Given the description of an element on the screen output the (x, y) to click on. 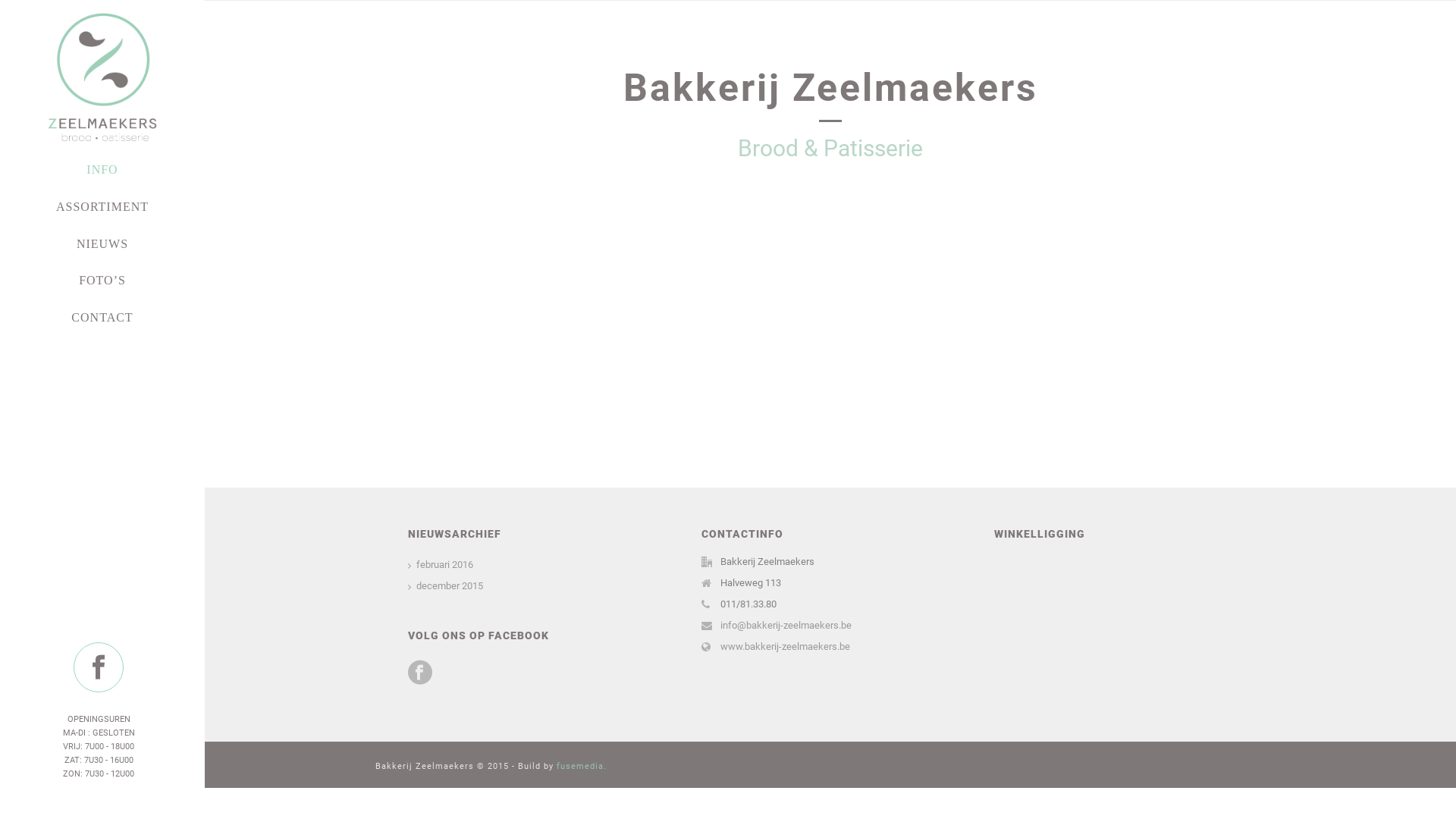
info@bakkerij-zeelmaekers.be Element type: text (785, 625)
www.bakkerij-zeelmaekers.be Element type: text (785, 646)
ASSORTIMENT Element type: text (102, 206)
februari 2016 Element type: text (440, 564)
facebook Element type: hover (98, 667)
NIEUWS Element type: text (102, 244)
CONTACT Element type: text (102, 317)
Volg ons op Facebook facebook Element type: hover (419, 672)
december 2015 Element type: text (445, 586)
fusemedia. Element type: text (581, 766)
INFO Element type: text (102, 169)
Zeelmaekers Element type: hover (102, 75)
